Given the description of an element on the screen output the (x, y) to click on. 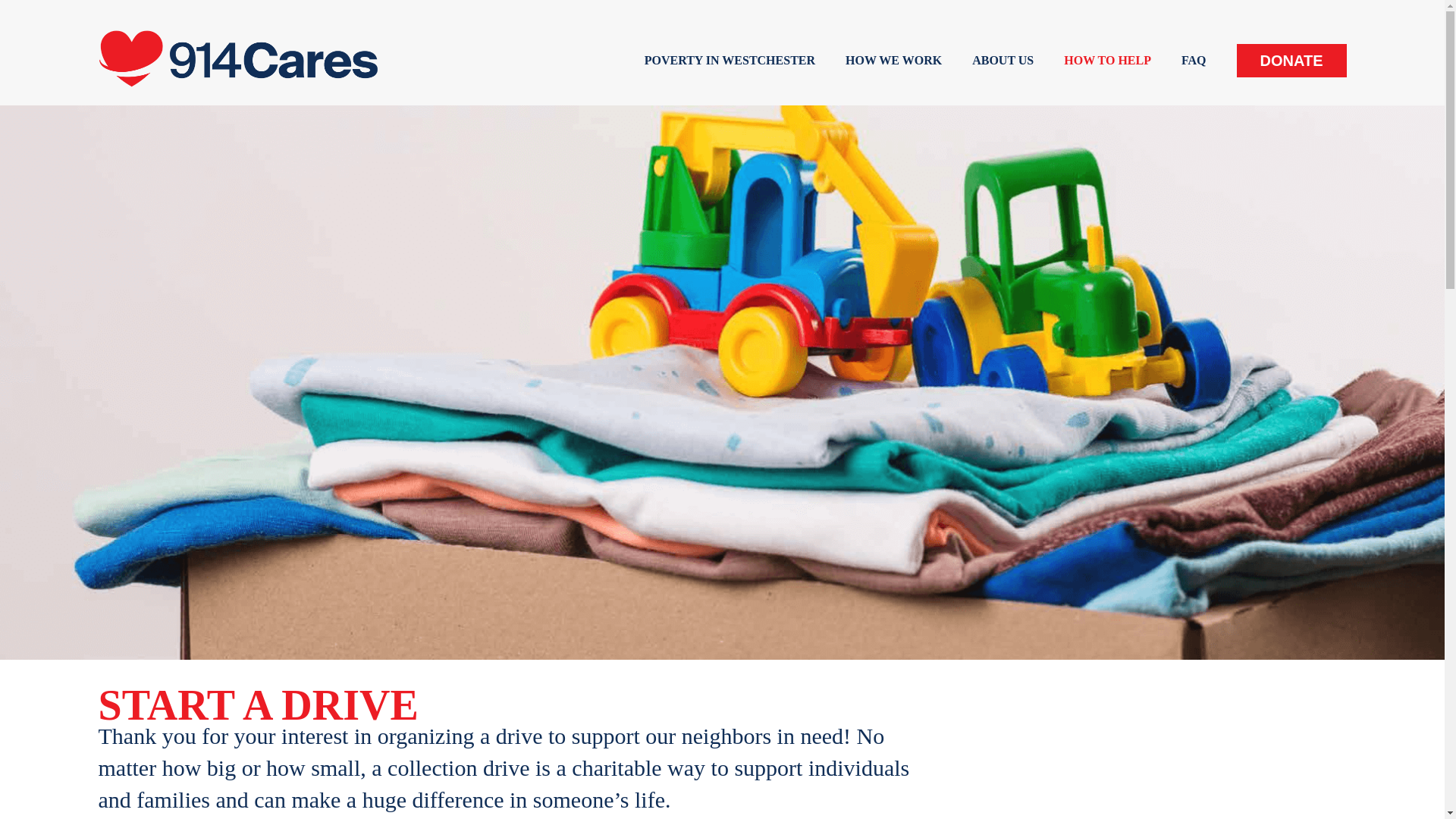
DONATE (1291, 60)
HOW WE WORK (893, 60)
HOW TO HELP (1107, 60)
ABOUT US (1002, 60)
POVERTY IN WESTCHESTER (730, 60)
FAQ (1193, 60)
